Given the description of an element on the screen output the (x, y) to click on. 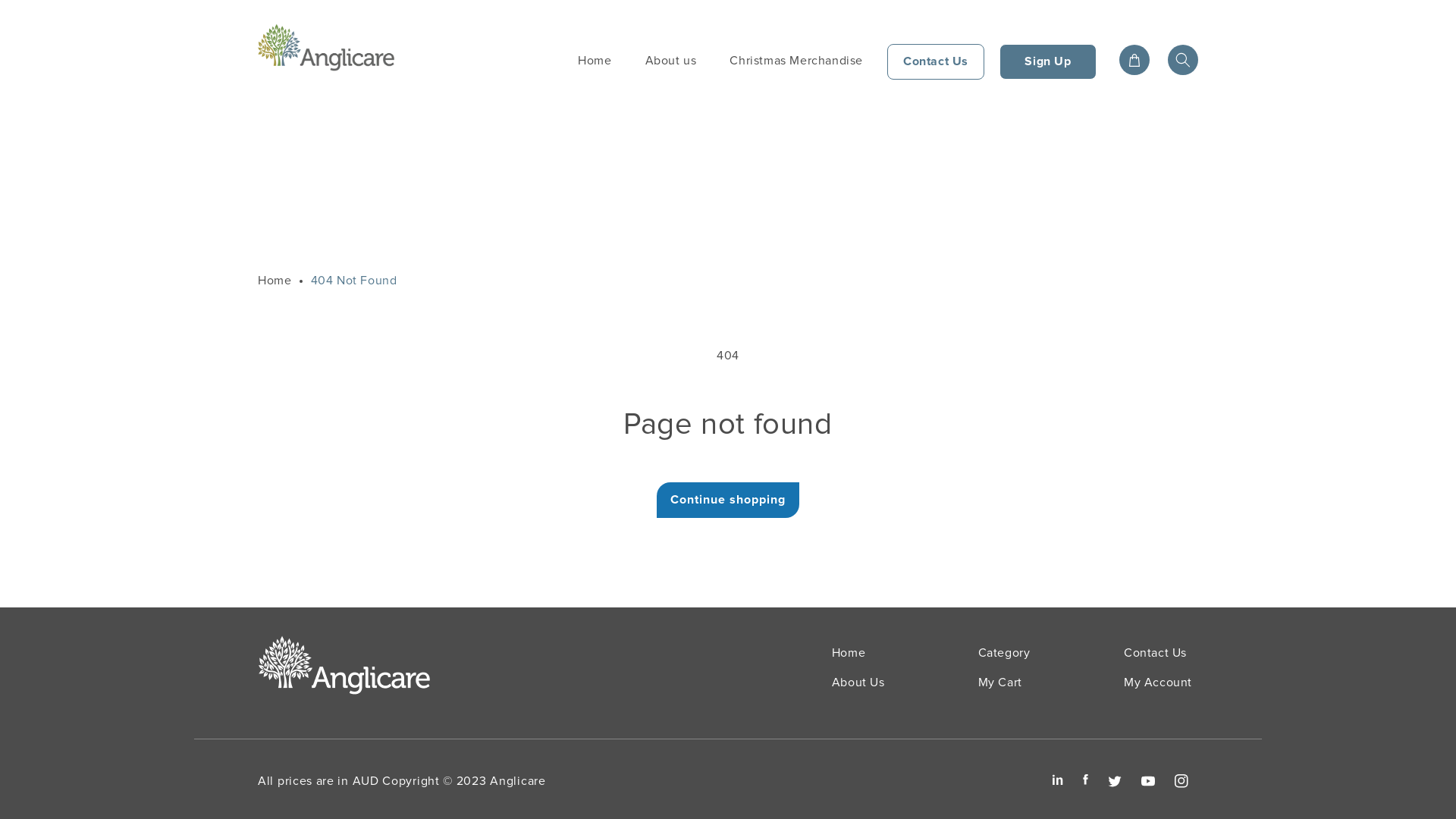
Facebook Element type: text (1085, 779)
My Cart Element type: text (1000, 682)
Cart Element type: text (1134, 59)
YouTube Element type: text (1147, 780)
Twitter Element type: text (1114, 780)
Instagram Element type: text (1181, 780)
Sign Up Element type: text (1047, 61)
About Us Element type: text (857, 682)
My Account Element type: text (1157, 682)
Continue shopping Element type: text (727, 499)
About us Element type: text (671, 60)
Category Element type: text (1004, 655)
Home Element type: text (274, 280)
Home Element type: text (594, 60)
Christmas Merchandise Element type: text (796, 60)
Contact Us Element type: text (1154, 655)
Contact Us Element type: text (935, 61)
Home Element type: text (848, 655)
